Given the description of an element on the screen output the (x, y) to click on. 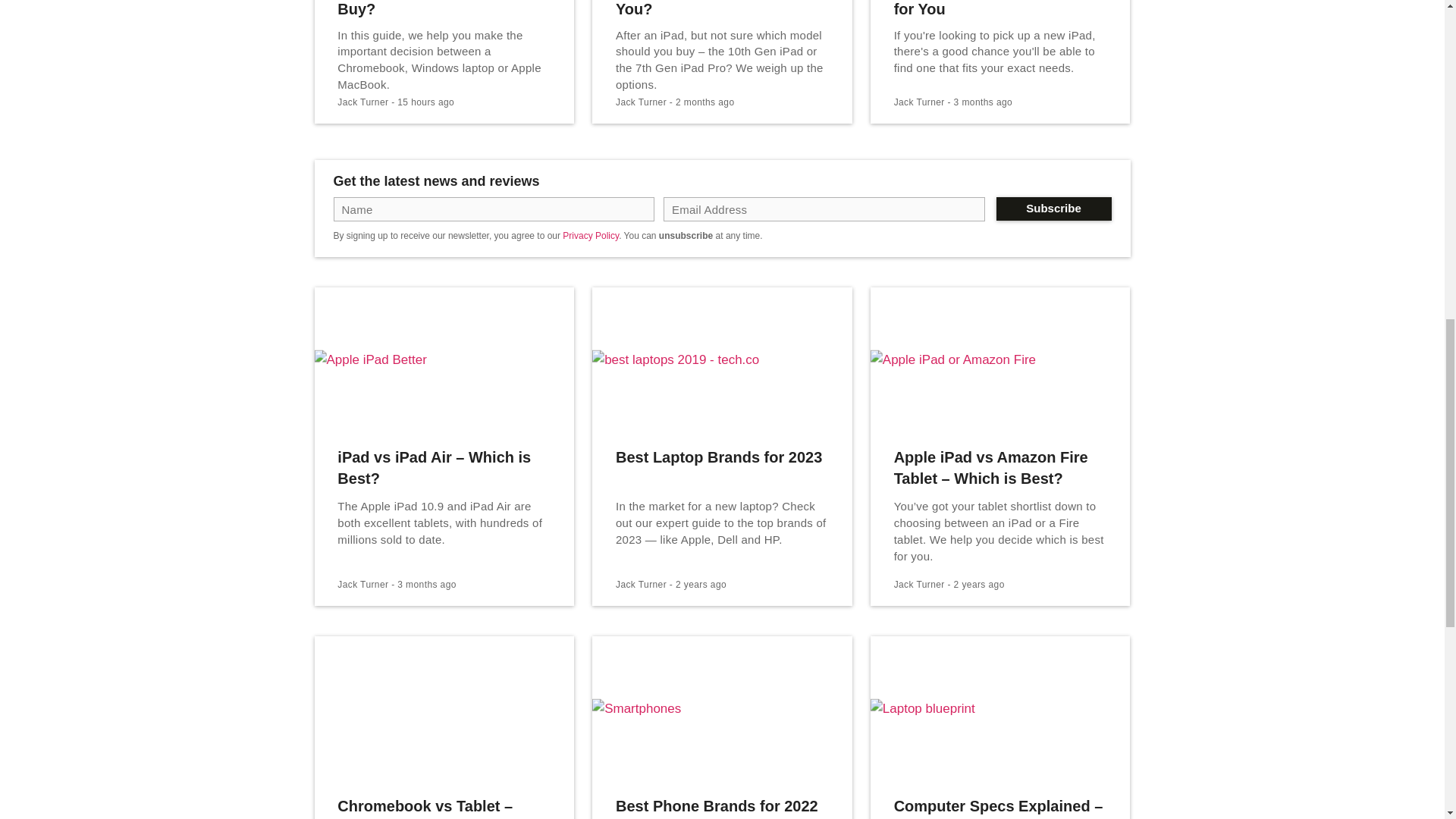
Privacy Policy (590, 235)
